Given the description of an element on the screen output the (x, y) to click on. 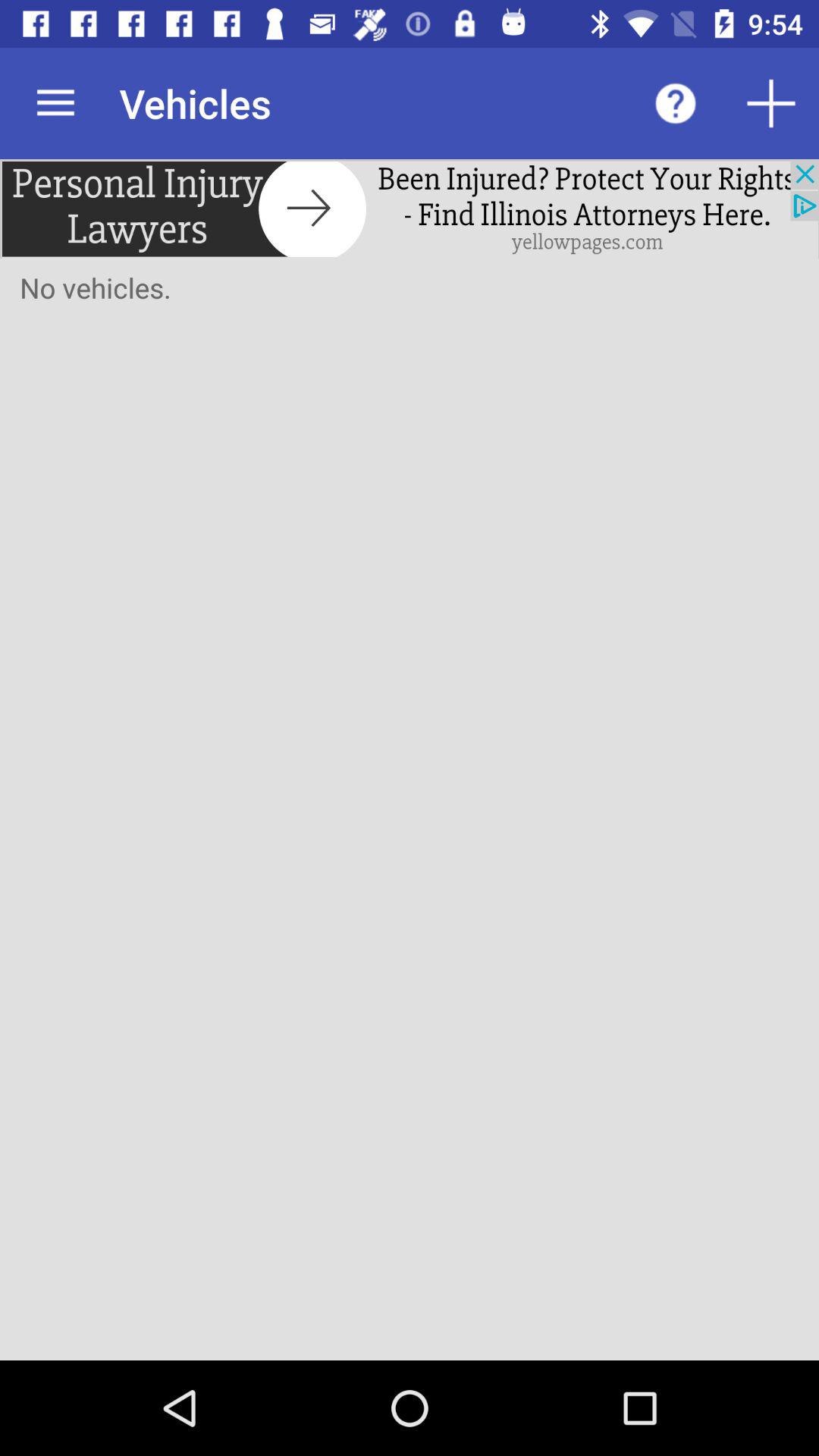
add item (771, 103)
